Given the description of an element on the screen output the (x, y) to click on. 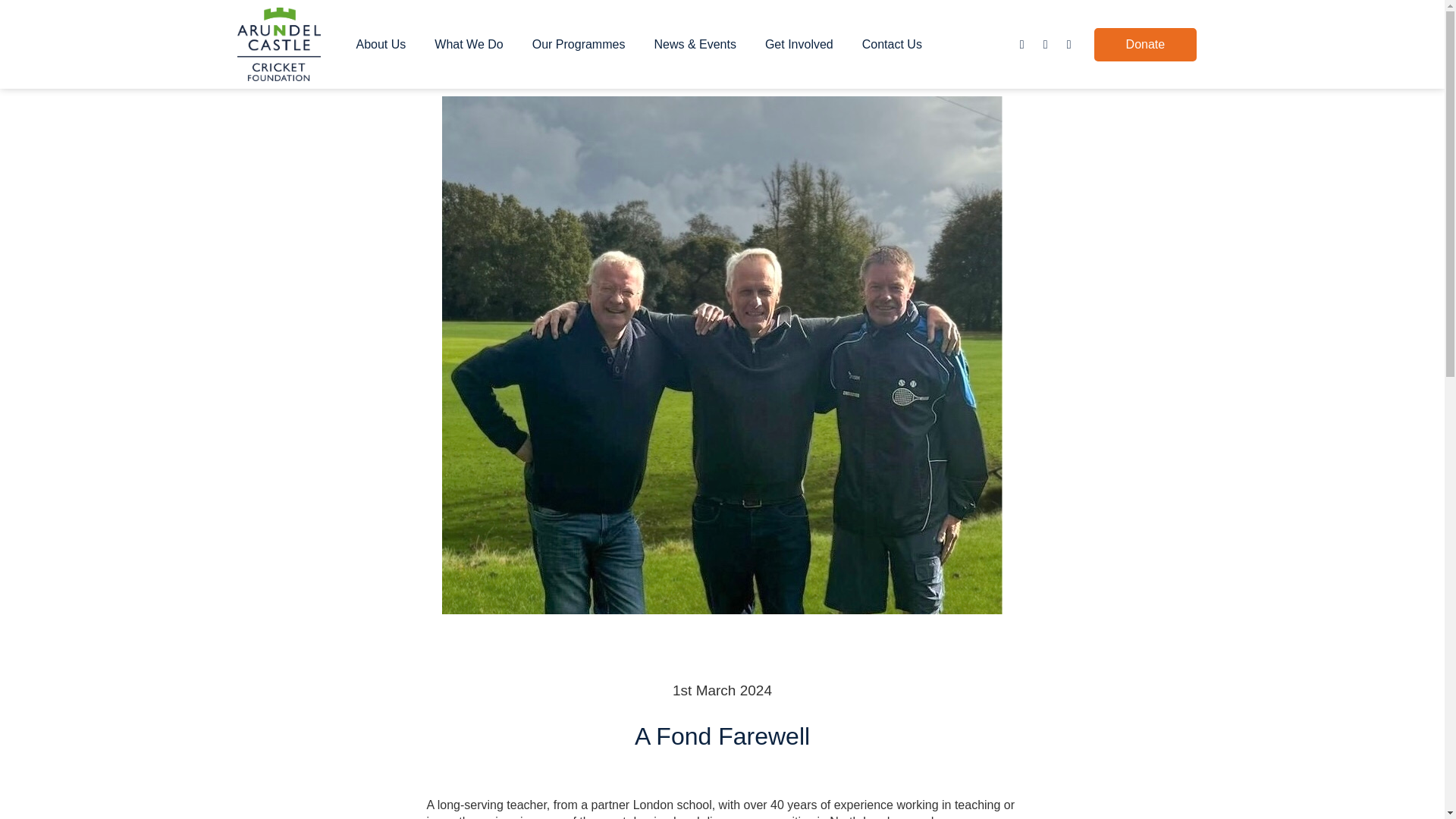
Our Programmes (582, 44)
Contact Us (892, 44)
What We Do (472, 44)
Get Involved (802, 44)
About Us (385, 44)
